Given the description of an element on the screen output the (x, y) to click on. 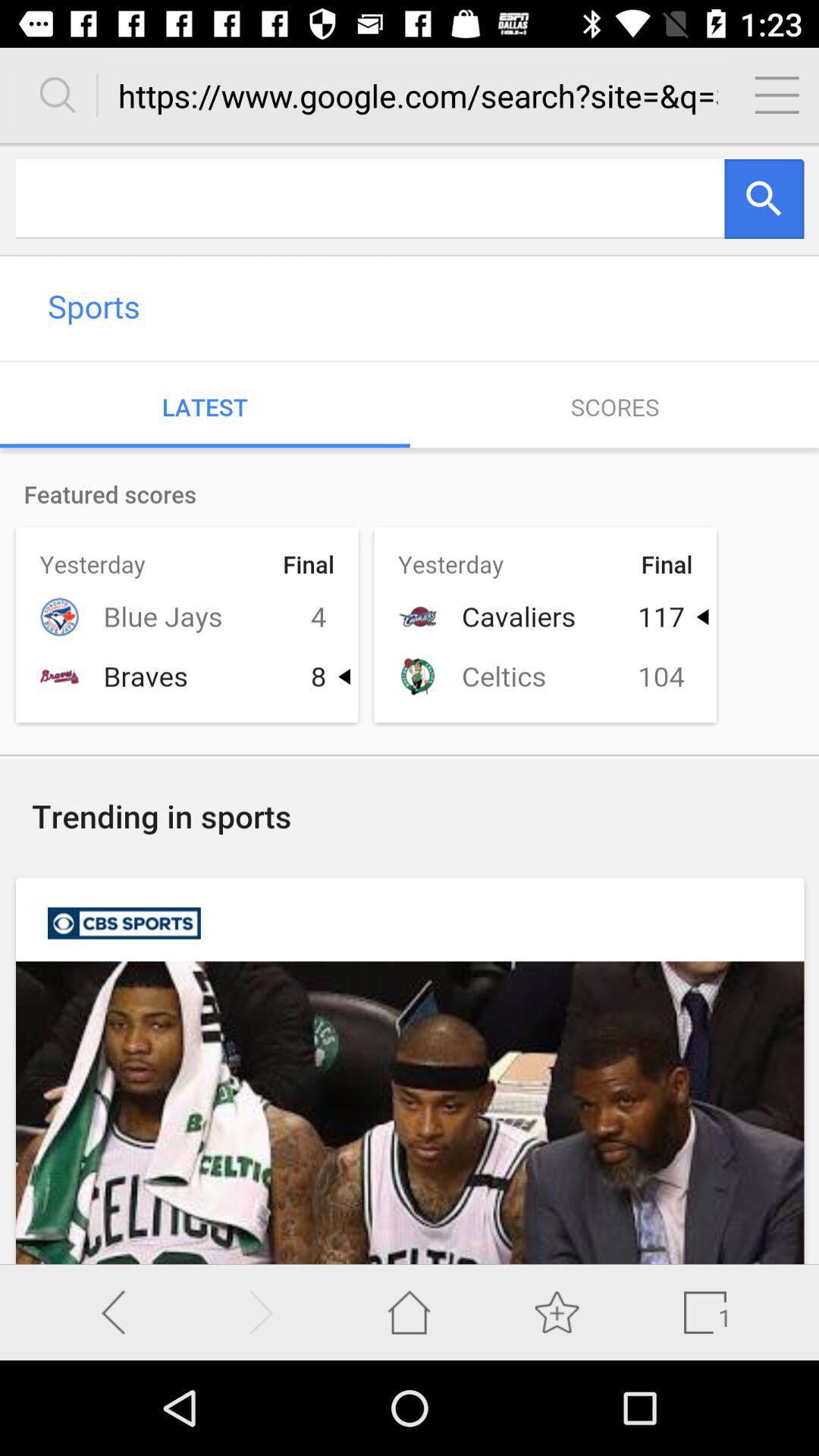
website look (409, 703)
